Given the description of an element on the screen output the (x, y) to click on. 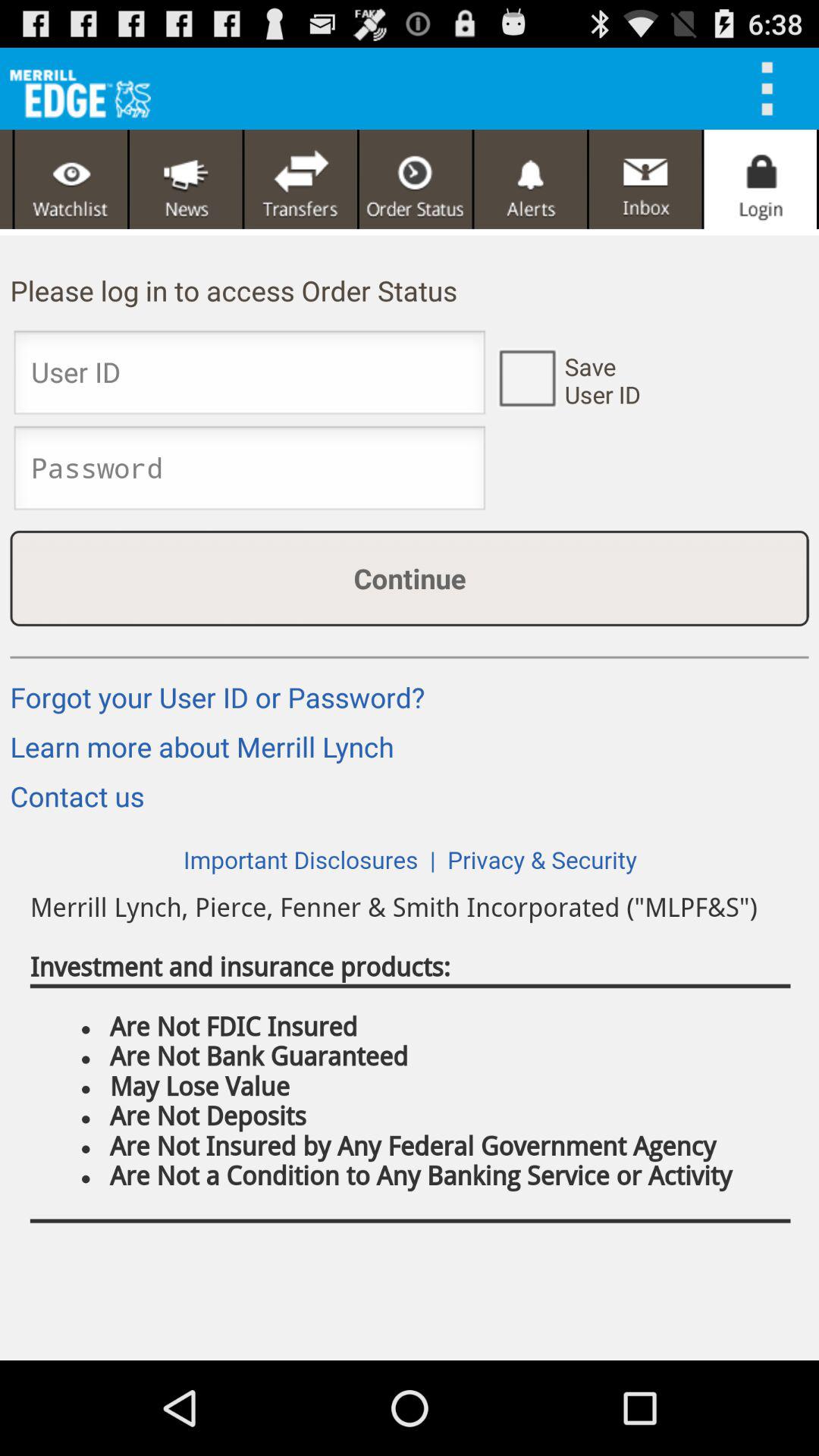
save user id (526, 376)
